Given the description of an element on the screen output the (x, y) to click on. 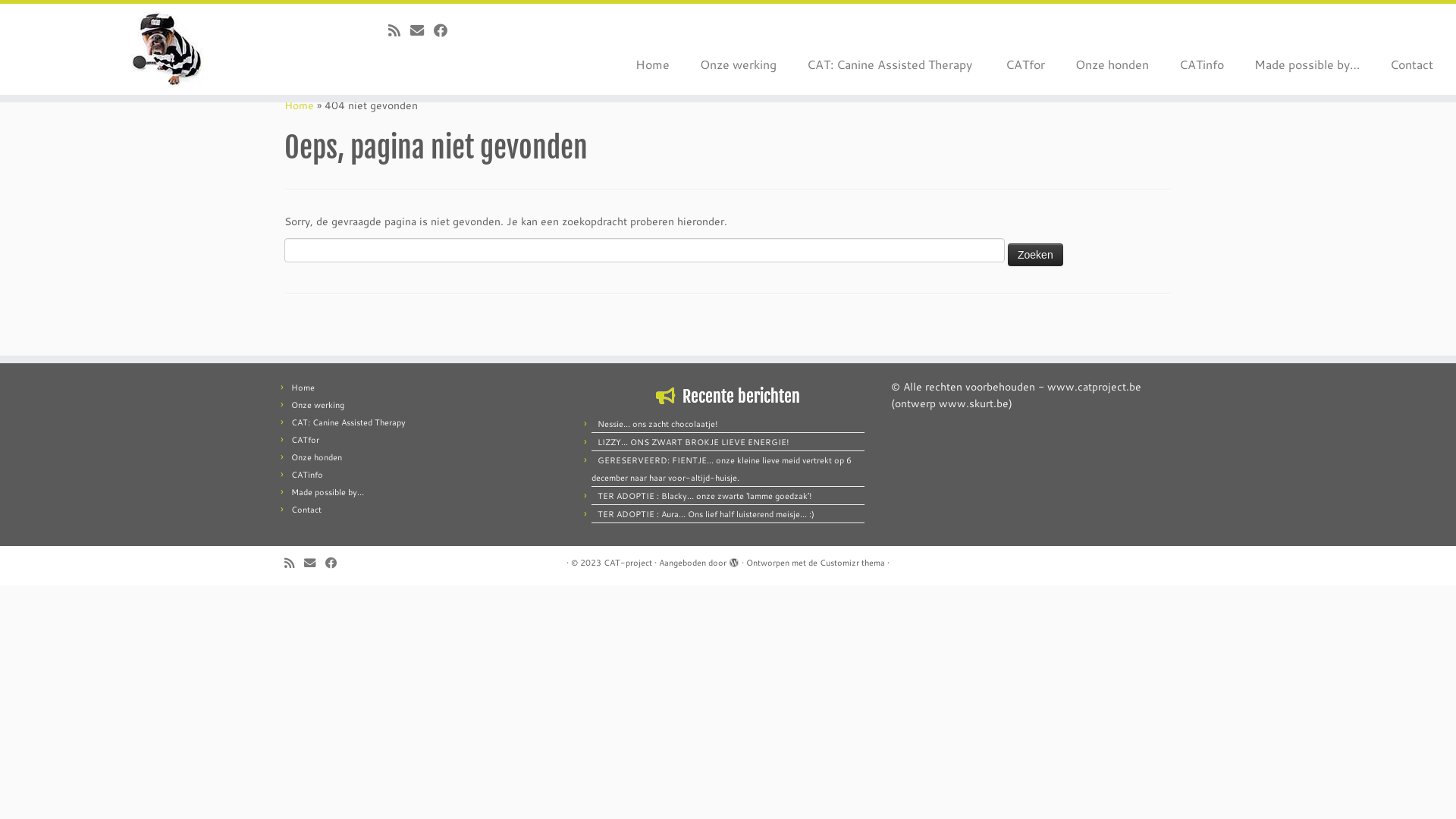
Onze honden Element type: text (316, 457)
E-mail Element type: hover (421, 30)
CATinfo Element type: text (307, 474)
Abonneer op mijn RSS feed Element type: hover (399, 30)
Contact Element type: text (1403, 64)
Onze werking Element type: text (737, 64)
Volg mij op Facebook Element type: hover (335, 563)
CAT-project Element type: text (627, 563)
Contact Element type: text (306, 509)
Volg mij op Facebook Element type: hover (445, 30)
Onze honden Element type: text (1112, 64)
CAT: Canine Assisted Therapy  Element type: text (349, 422)
Customizr thema Element type: text (851, 563)
Home Element type: text (298, 104)
Zoeken Element type: text (1035, 253)
CAT: Canine Assisted Therapy  Element type: text (890, 64)
CATfor Element type: text (305, 439)
CATinfo Element type: text (1201, 64)
Onze werking Element type: text (317, 404)
Home Element type: text (652, 64)
Mogelijk gemaakt door WordPress Element type: hover (733, 559)
Abonneer op mijn RSS feed Element type: hover (294, 563)
E-mail Element type: hover (314, 563)
Home Element type: text (302, 387)
CATfor Element type: text (1025, 64)
